Given the description of an element on the screen output the (x, y) to click on. 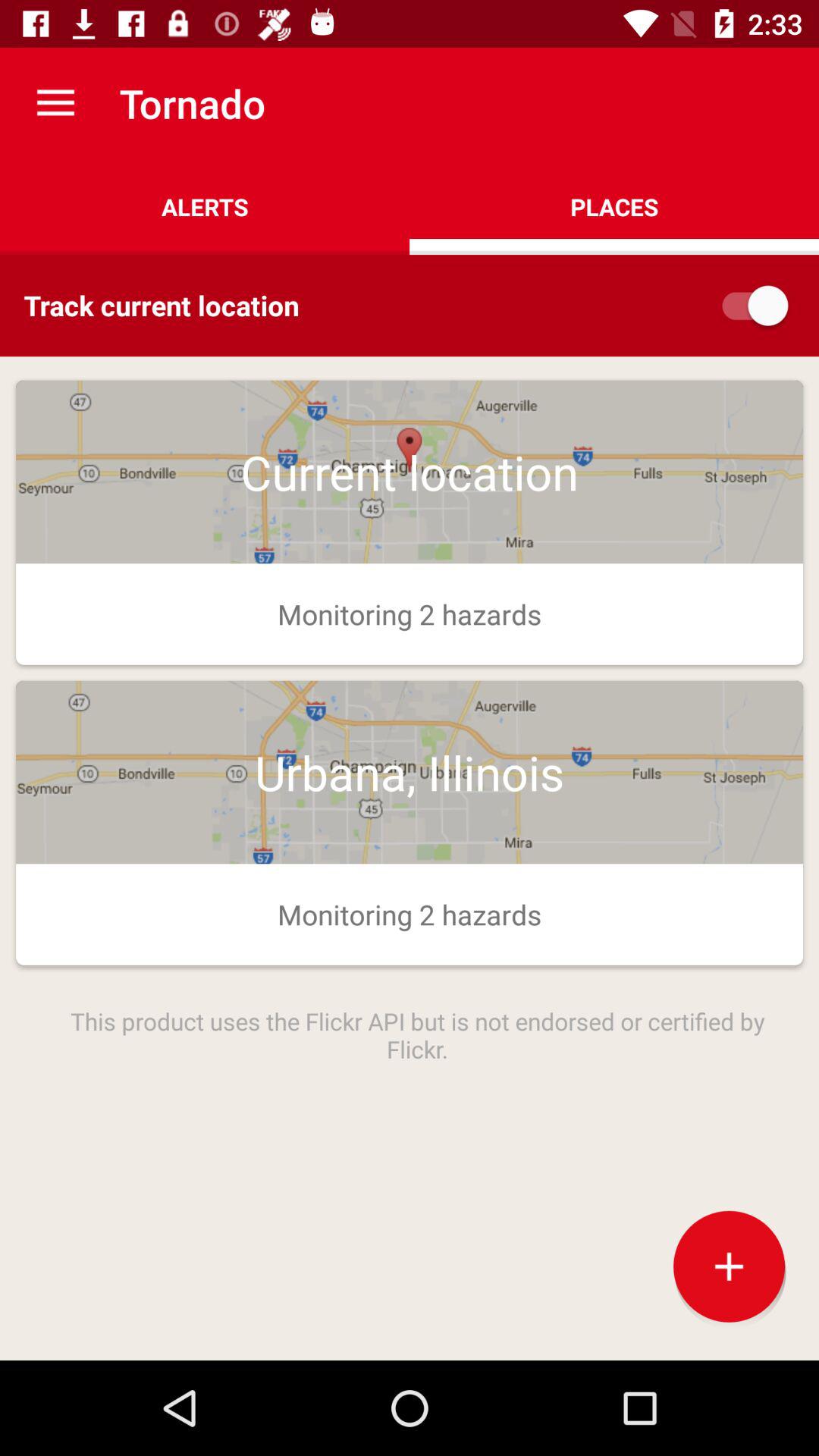
turn on the icon next to the places (204, 206)
